Given the description of an element on the screen output the (x, y) to click on. 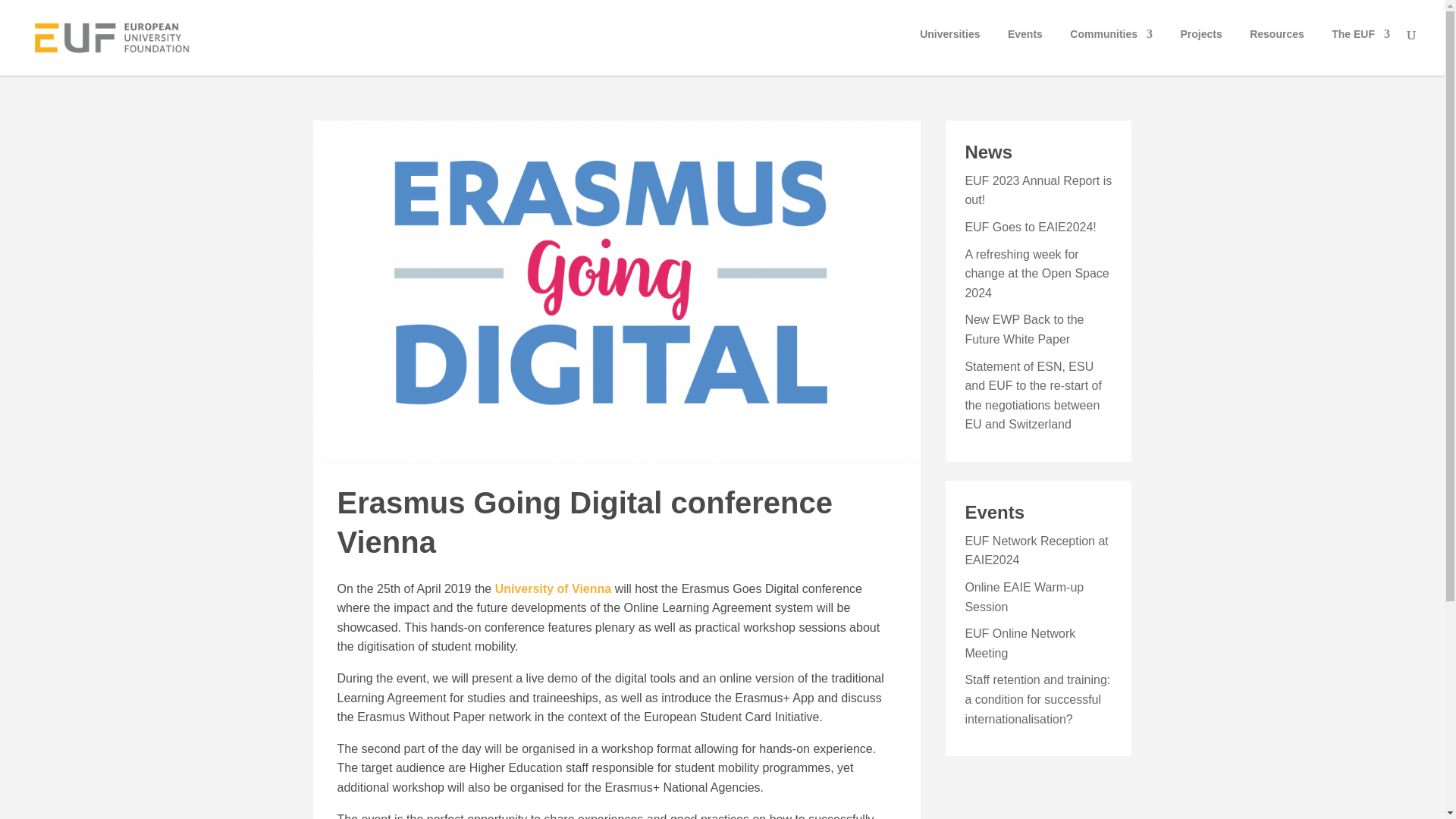
Projects (1200, 47)
A refreshing week for change at the Open Space 2024 (1035, 273)
EUF Goes to EAIE2024! (1029, 226)
Universities (949, 47)
EUF 2023 Annual Report is out! (1037, 190)
Resources (1276, 47)
The EUF (1361, 47)
University of Vienna (553, 588)
Communities (1111, 47)
